Given the description of an element on the screen output the (x, y) to click on. 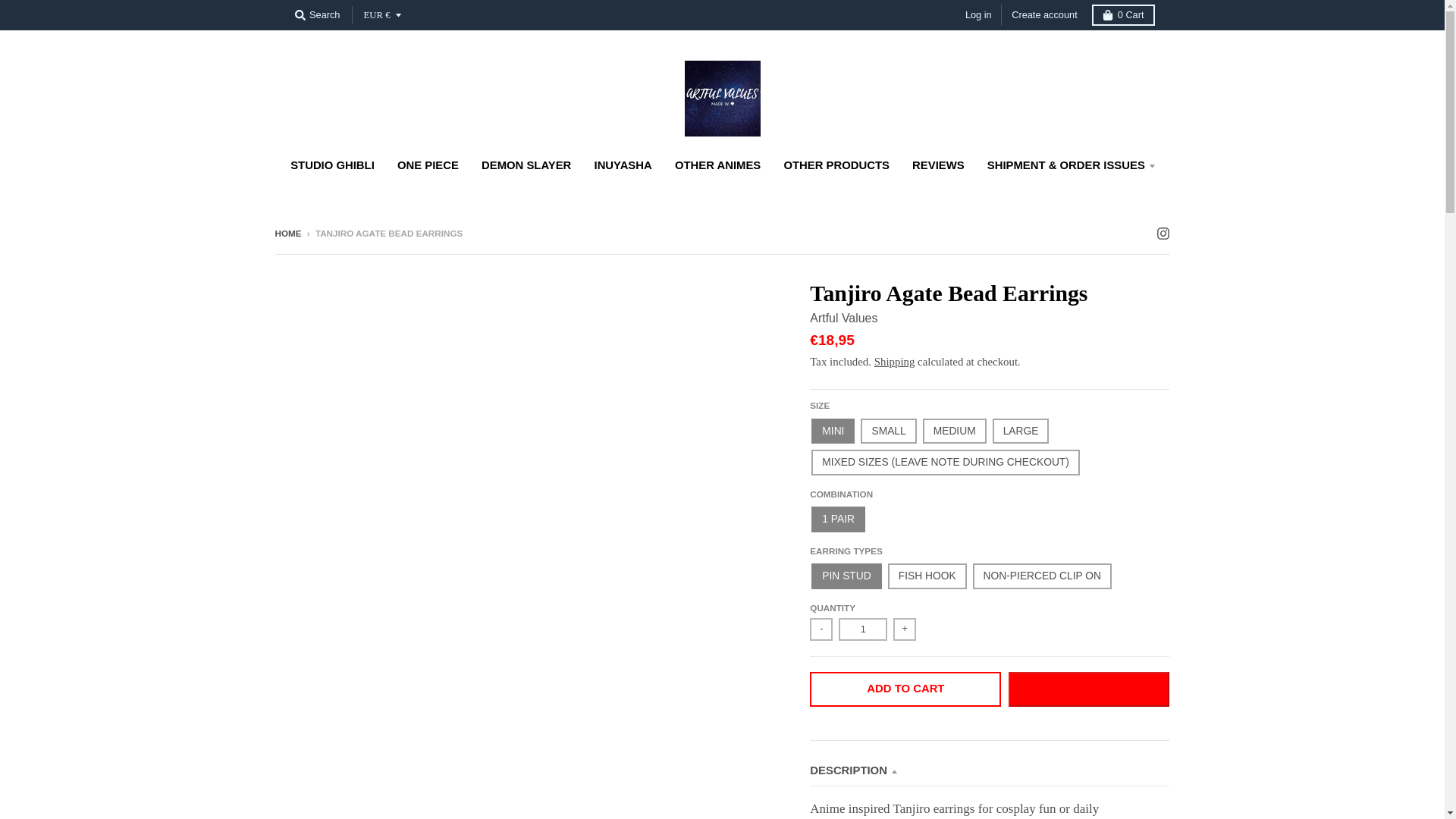
1 (862, 629)
Artful Values (843, 318)
Small (887, 431)
Fish Hook (927, 575)
Medium (955, 431)
Non-pierced Clip On (1042, 575)
Pin Stud (845, 575)
Instagram - Artful Values (1162, 232)
Back to the frontpage (288, 233)
